Given the description of an element on the screen output the (x, y) to click on. 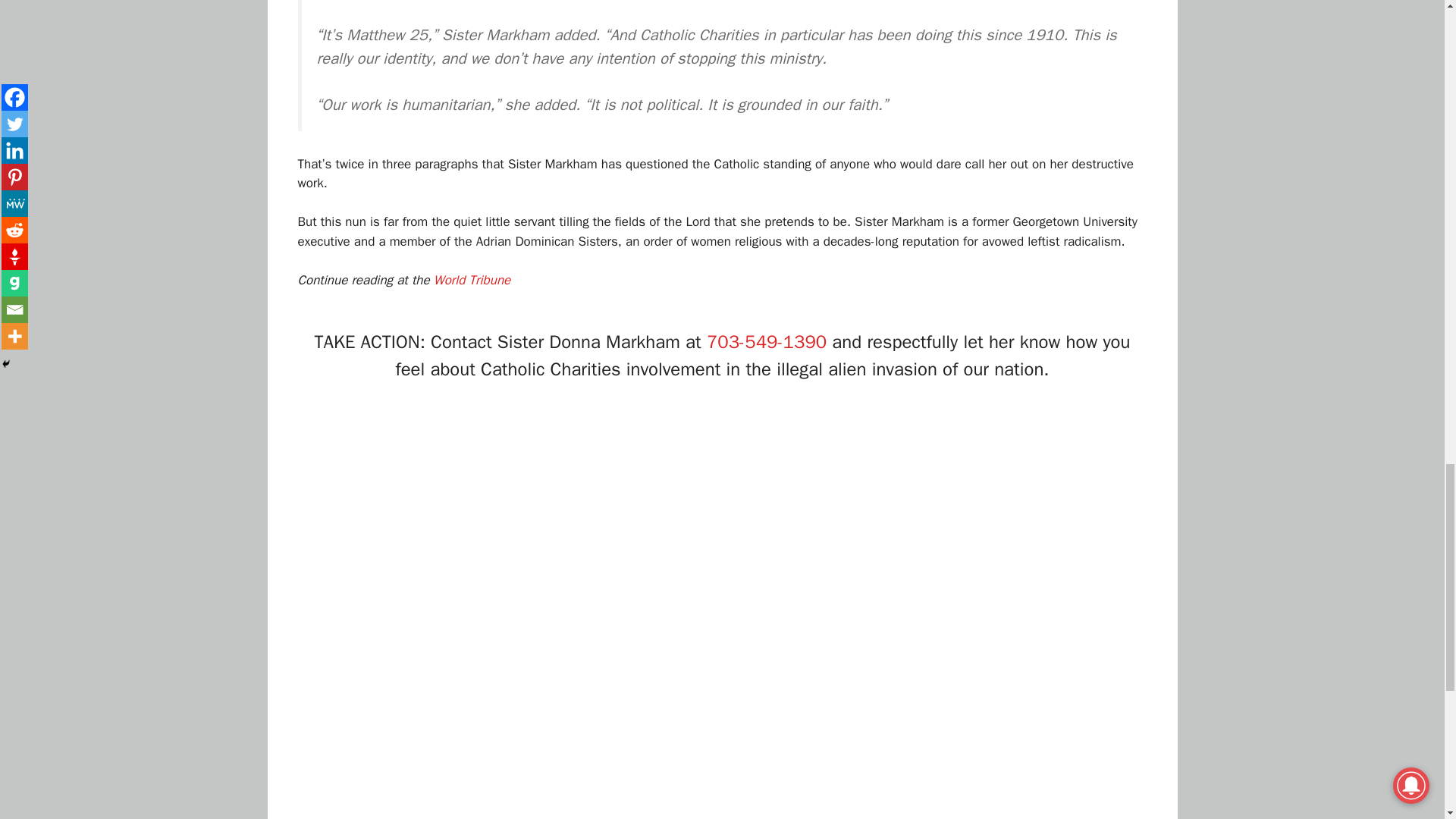
703-549-1390 (766, 341)
World Tribune (472, 279)
